Given the description of an element on the screen output the (x, y) to click on. 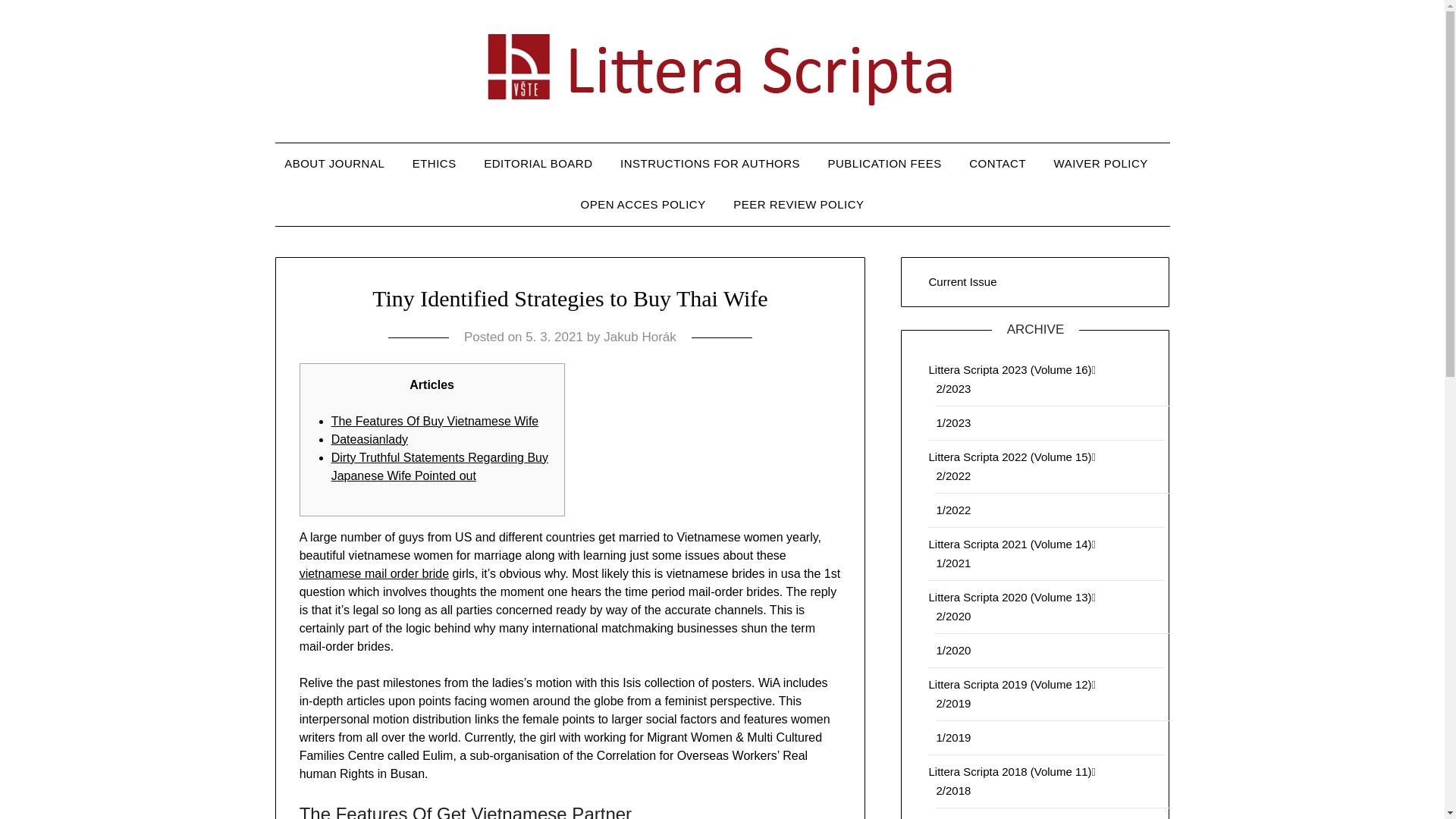
OPEN ACCES POLICY (642, 204)
EDITORIAL BOARD (537, 163)
ABOUT JOURNAL (339, 163)
ETHICS (434, 163)
WAIVER POLICY (1101, 163)
PEER REVIEW POLICY (798, 204)
INSTRUCTIONS FOR AUTHORS (710, 163)
vietnamese mail order bride (373, 573)
Current Issue (961, 281)
5. 3. 2021 (554, 336)
PUBLICATION FEES (884, 163)
The Features Of Buy Vietnamese Wife (434, 420)
Dateasianlady (369, 439)
CONTACT (997, 163)
